Given the description of an element on the screen output the (x, y) to click on. 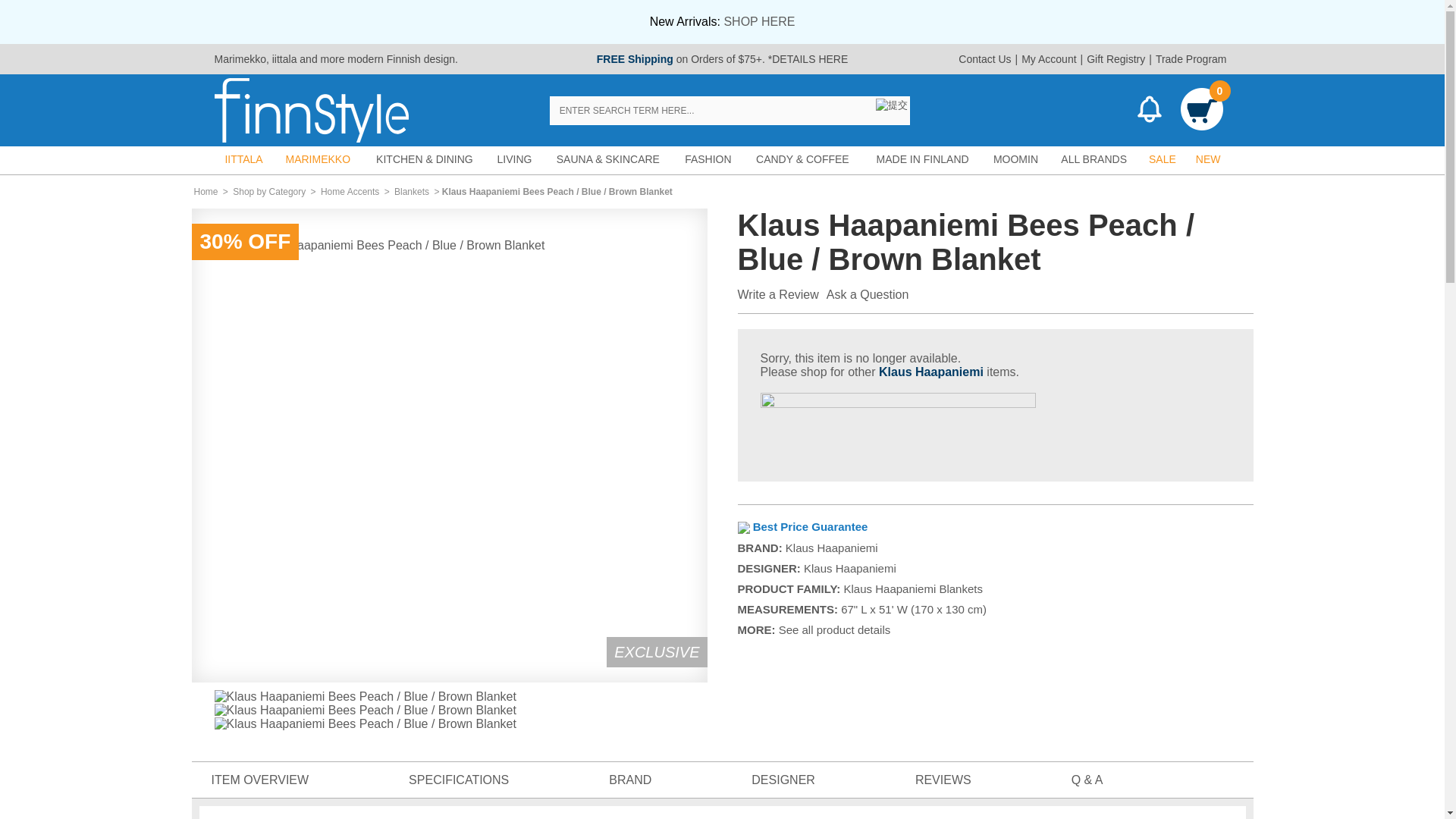
ALL BRANDS (1094, 159)
Trade Program (1190, 59)
SALE (1162, 159)
My Account (1048, 59)
SHOP HERE (758, 21)
LIVING (514, 159)
Marimekko (239, 59)
MOOMIN (1016, 159)
NEW (1208, 159)
FASHION (708, 159)
MARIMEKKO (318, 159)
Gift Registry (1115, 59)
0 (1201, 110)
Contact Us (984, 59)
IITTALA (242, 159)
